Given the description of an element on the screen output the (x, y) to click on. 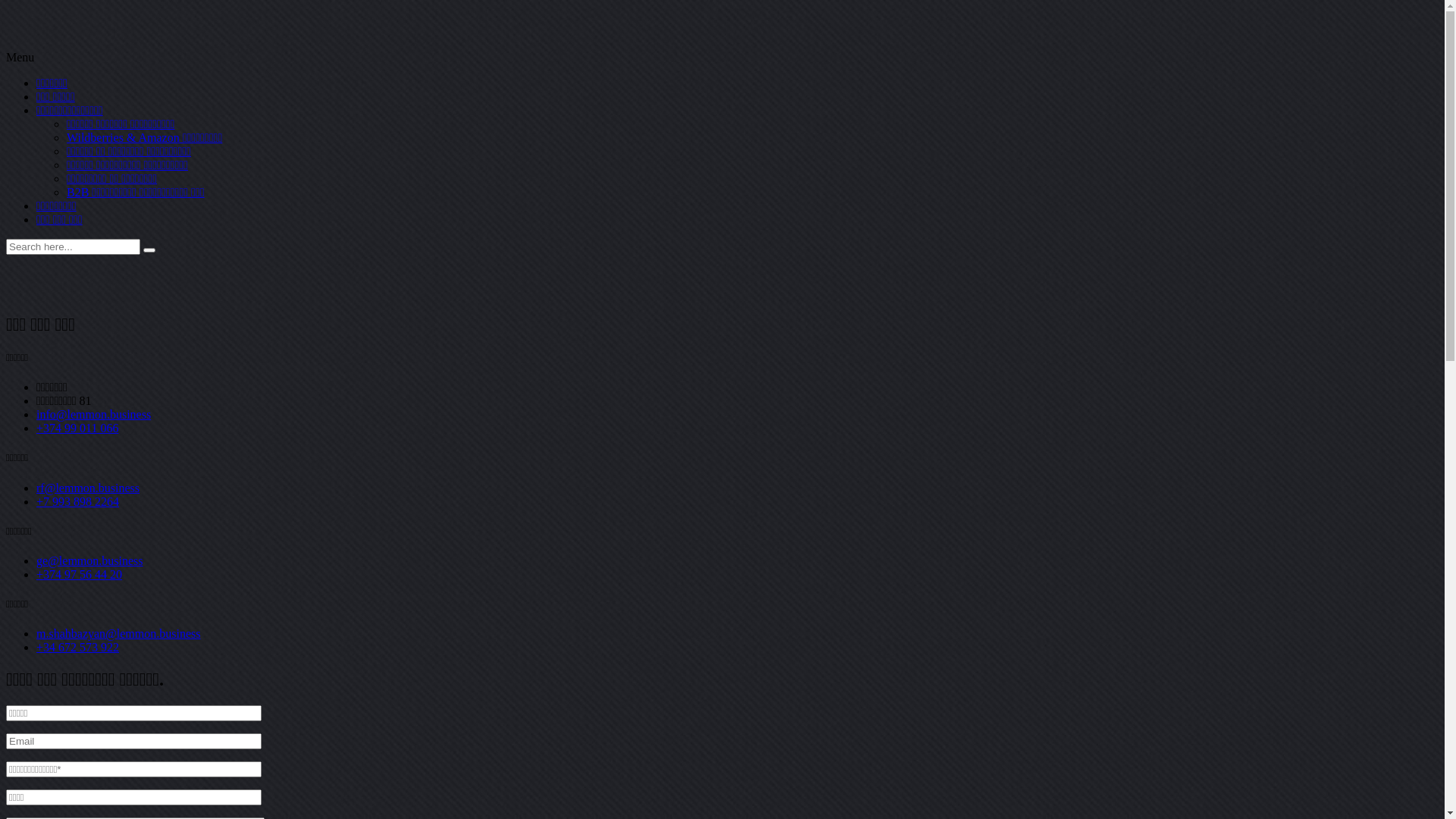
+374 97 56 44 20 Element type: text (79, 573)
+7 993 898 2264 Element type: text (77, 501)
info@lemmon.business Element type: text (93, 413)
rf@lemmon.business Element type: text (87, 487)
+374 99 011 066 Element type: text (77, 427)
+34 672 573 922 Element type: text (77, 646)
ge@lemmon.business Element type: text (89, 560)
m.shahbazyan@lemmon.business Element type: text (118, 633)
